Given the description of an element on the screen output the (x, y) to click on. 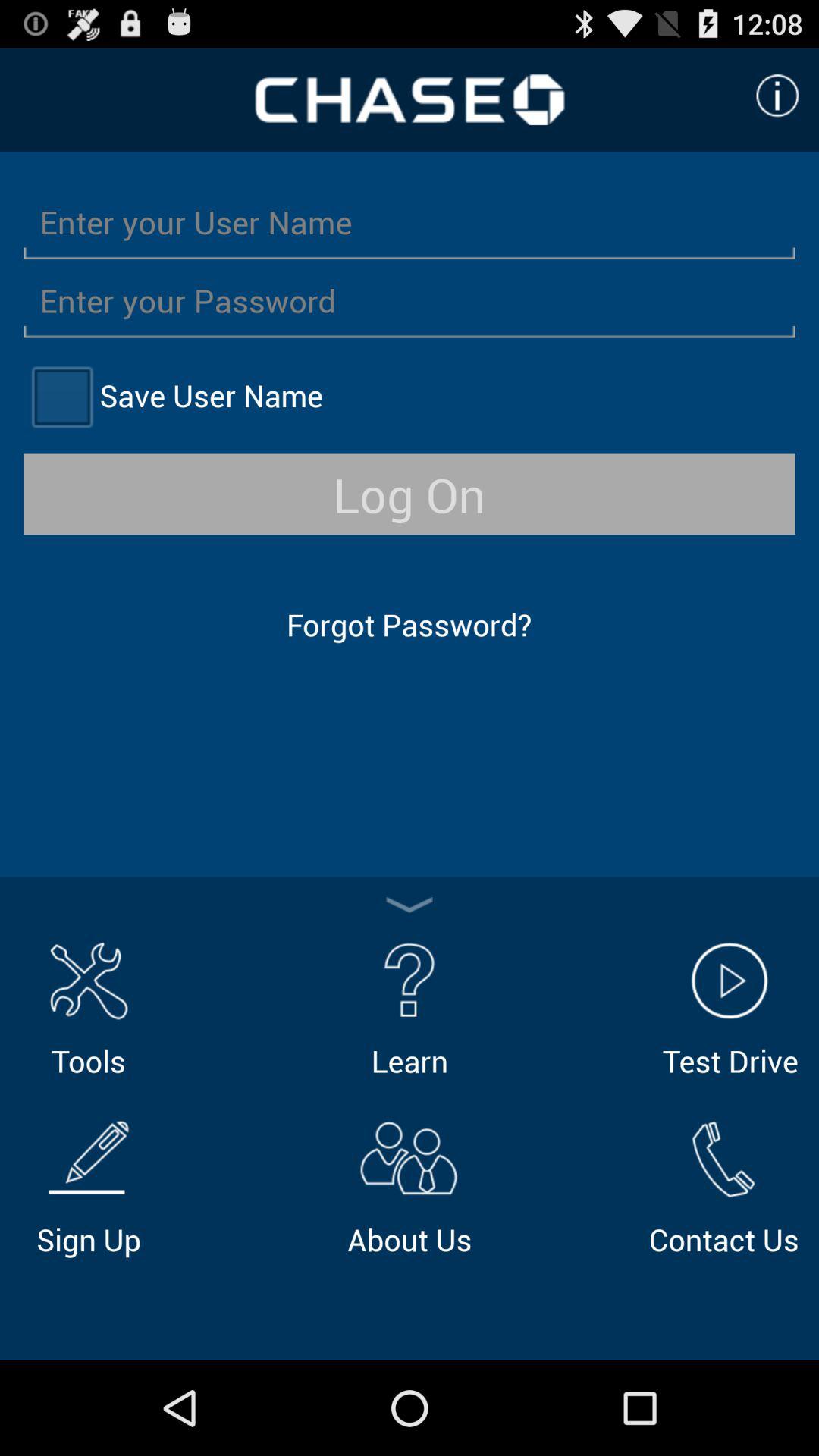
turn on item to the right of the tools icon (409, 1006)
